Given the description of an element on the screen output the (x, y) to click on. 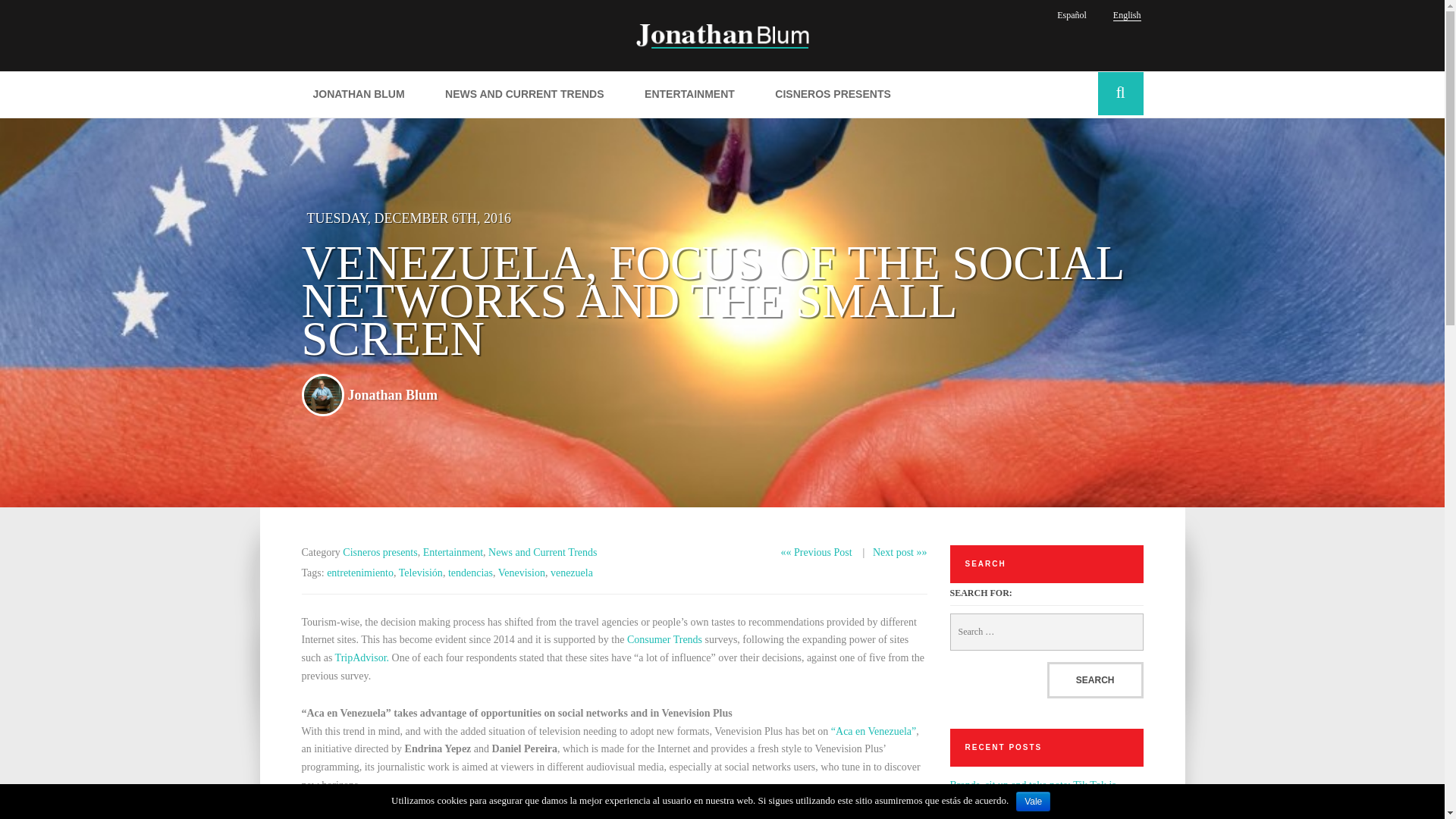
Search (1094, 679)
CISNEROS PRESENTS (831, 94)
Consumer Trends (665, 639)
JONATHAN BLUM (358, 94)
Search (1094, 679)
Search (1117, 93)
venezuela (571, 572)
Homepage (721, 34)
Posts by Jonathan Blum (392, 394)
Search (1094, 679)
NEWS AND CURRENT TRENDS (523, 94)
Venevision (520, 572)
Entertainment (453, 552)
Jonathan Blum (392, 394)
